Given the description of an element on the screen output the (x, y) to click on. 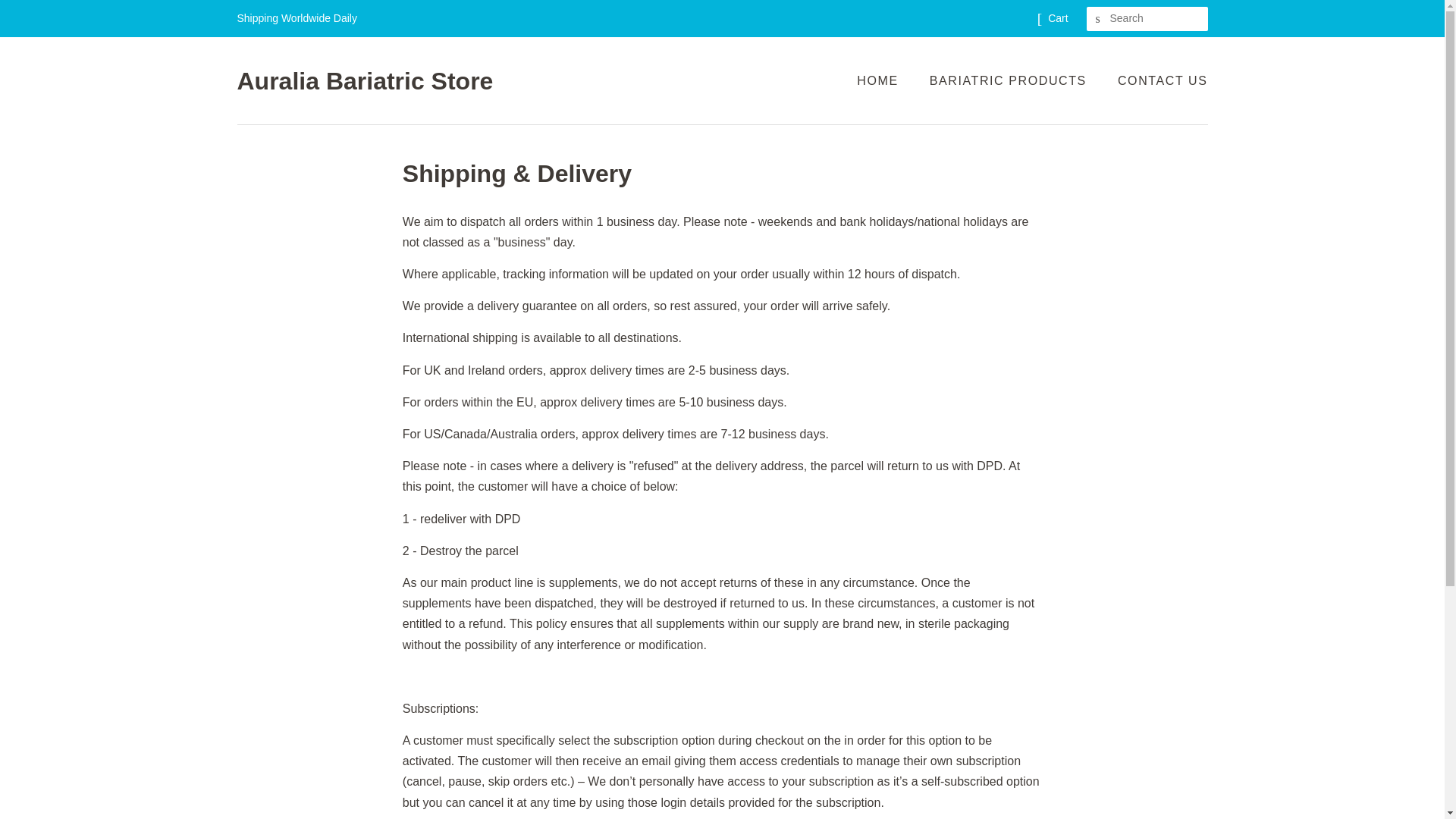
SEARCH (1097, 18)
Cart (1057, 18)
Auralia Bariatric Store (364, 80)
CONTACT US (1157, 80)
BARIATRIC PRODUCTS (1010, 80)
HOME (884, 80)
